Given the description of an element on the screen output the (x, y) to click on. 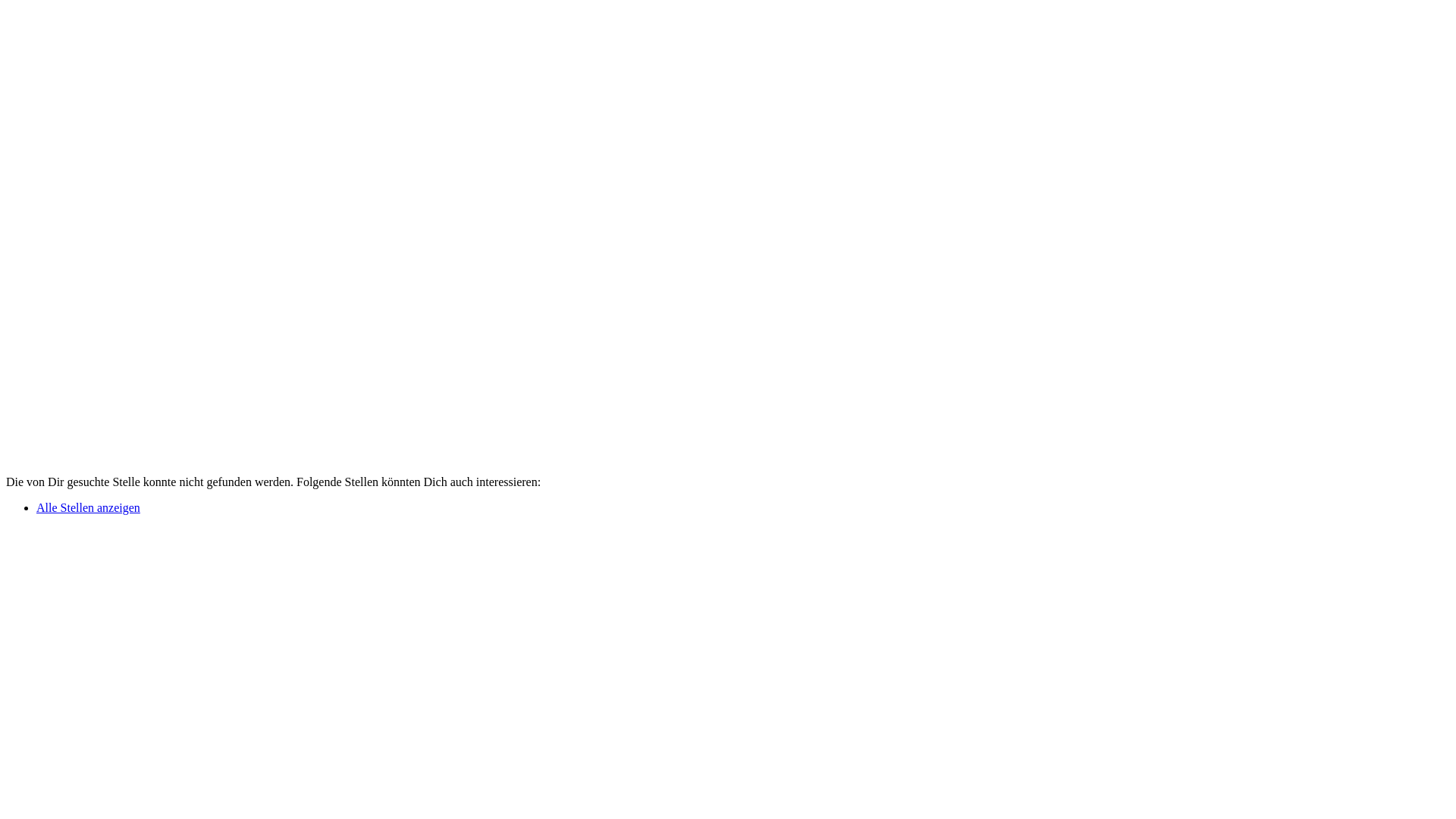
Alle Stellen anzeigen Element type: text (88, 507)
